Given the description of an element on the screen output the (x, y) to click on. 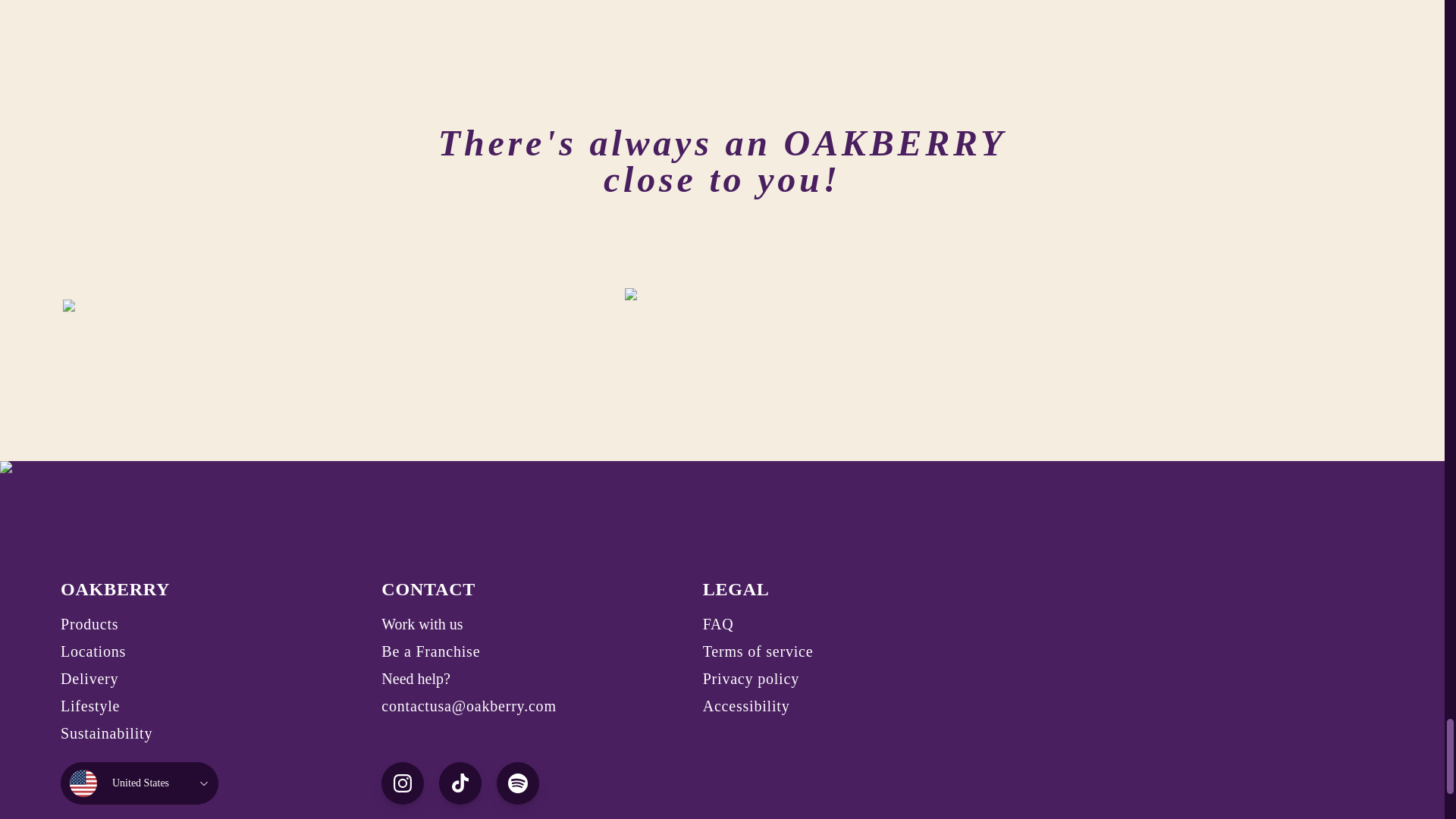
Work with us (422, 623)
Terms of service (758, 650)
Products (89, 623)
Need help? (415, 678)
Lifestyle (90, 705)
Privacy policy (751, 678)
Sustainability (106, 732)
Delivery (89, 678)
Be a Franchise (430, 650)
FAQ (718, 623)
Locations (93, 650)
